Given the description of an element on the screen output the (x, y) to click on. 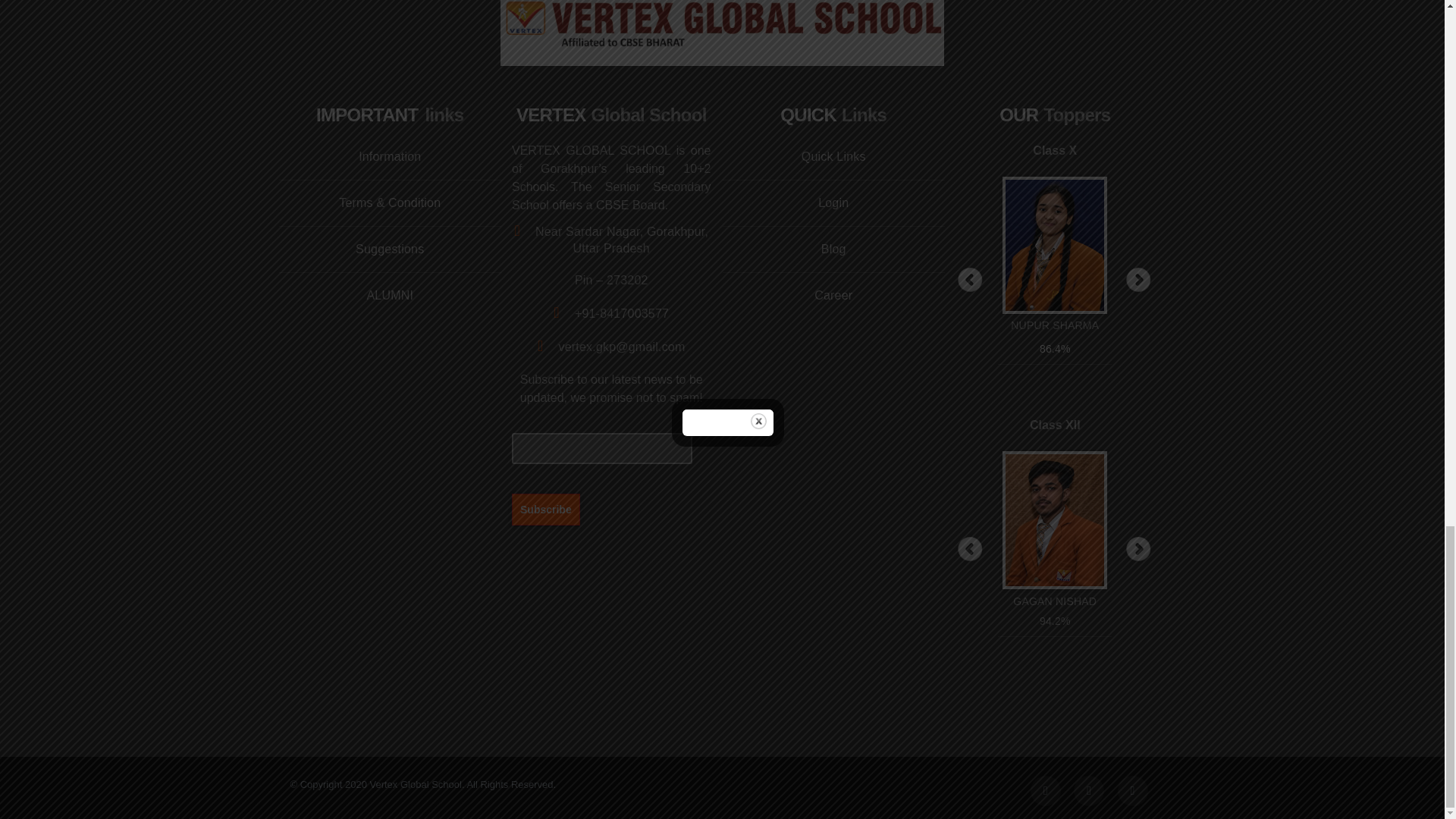
Subscribe (545, 508)
